Given the description of an element on the screen output the (x, y) to click on. 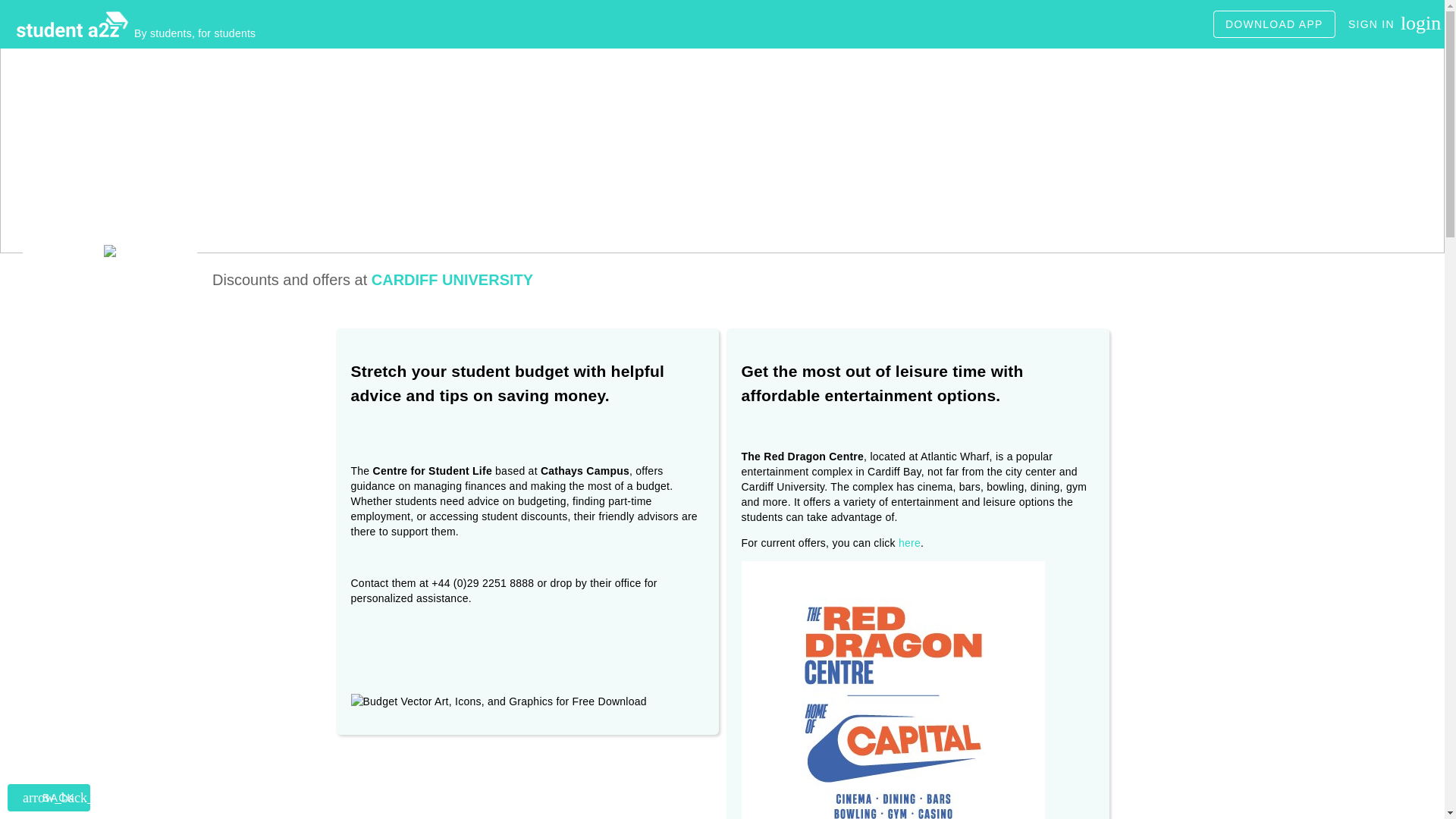
CARDIFF UNIVERSITY (451, 279)
DOWNLOAD APP (1273, 23)
here (1385, 23)
